Given the description of an element on the screen output the (x, y) to click on. 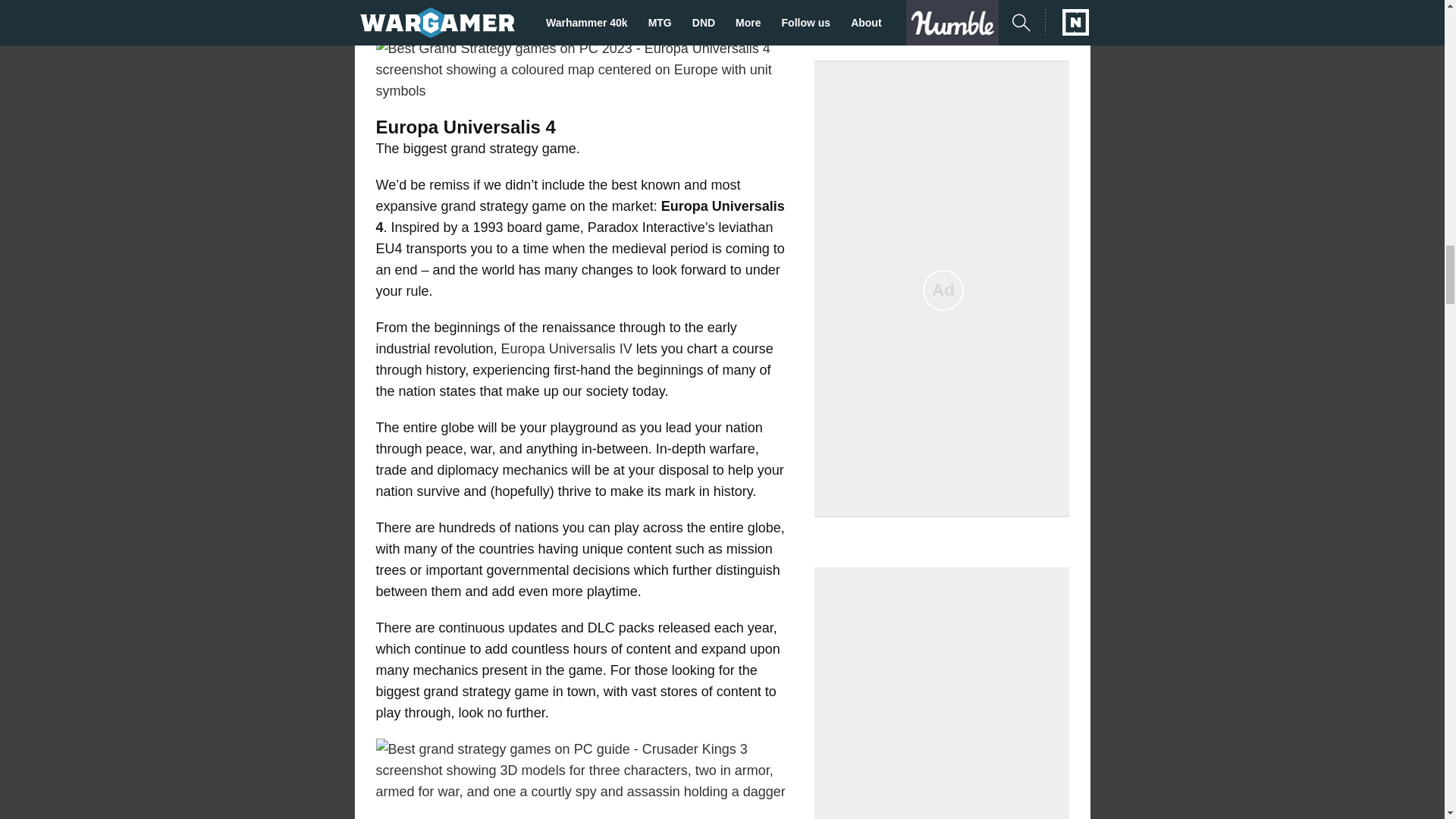
best-grand-strategy-games-guide-crusader-kings-3-figures (584, 770)
